Given the description of an element on the screen output the (x, y) to click on. 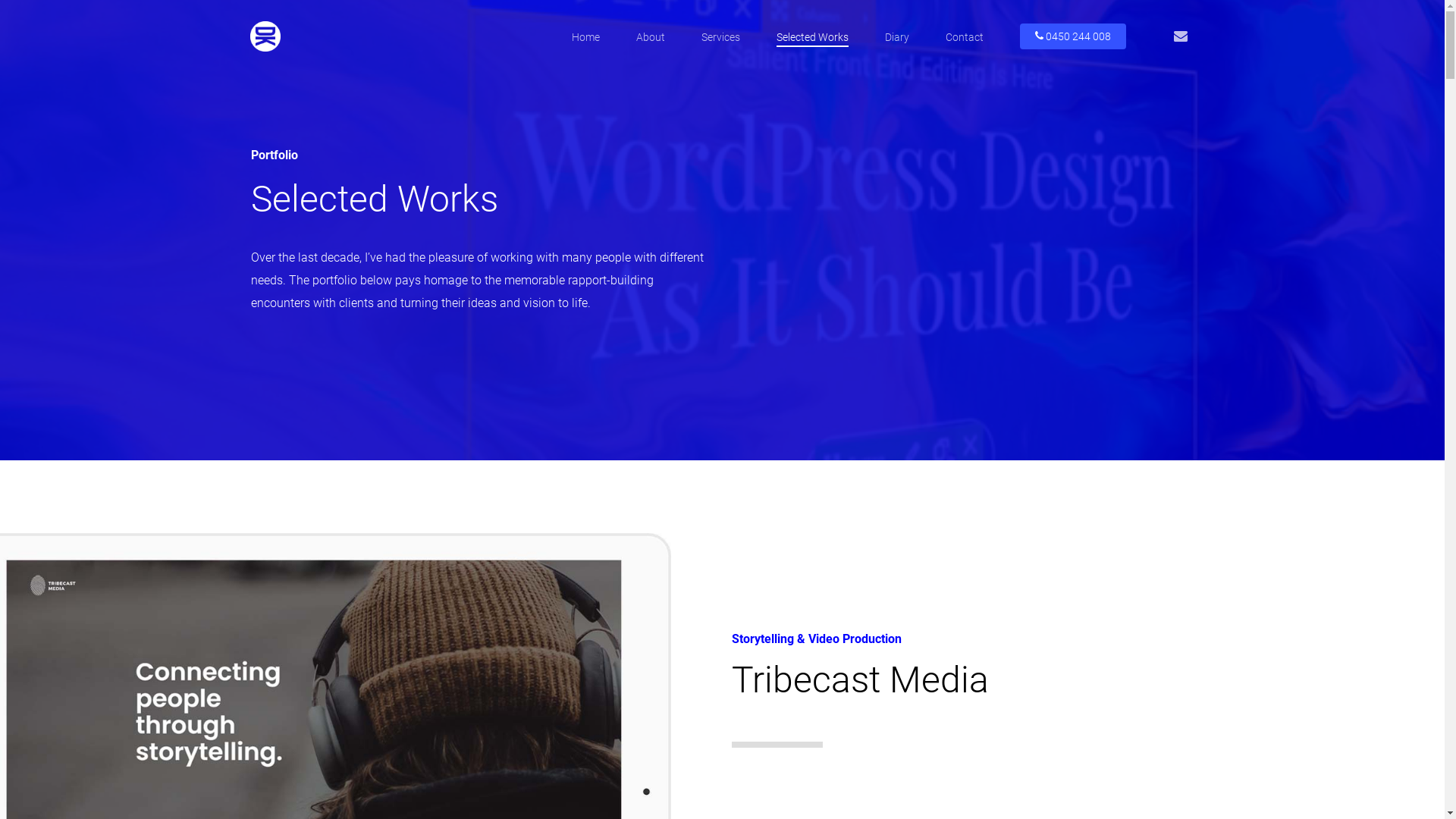
Diary Element type: text (896, 36)
Selected Works Element type: text (812, 36)
Contact Element type: text (964, 36)
Services Element type: text (720, 36)
About Element type: text (650, 36)
Home Element type: text (585, 36)
0450 244 008 Element type: text (1072, 36)
